Given the description of an element on the screen output the (x, y) to click on. 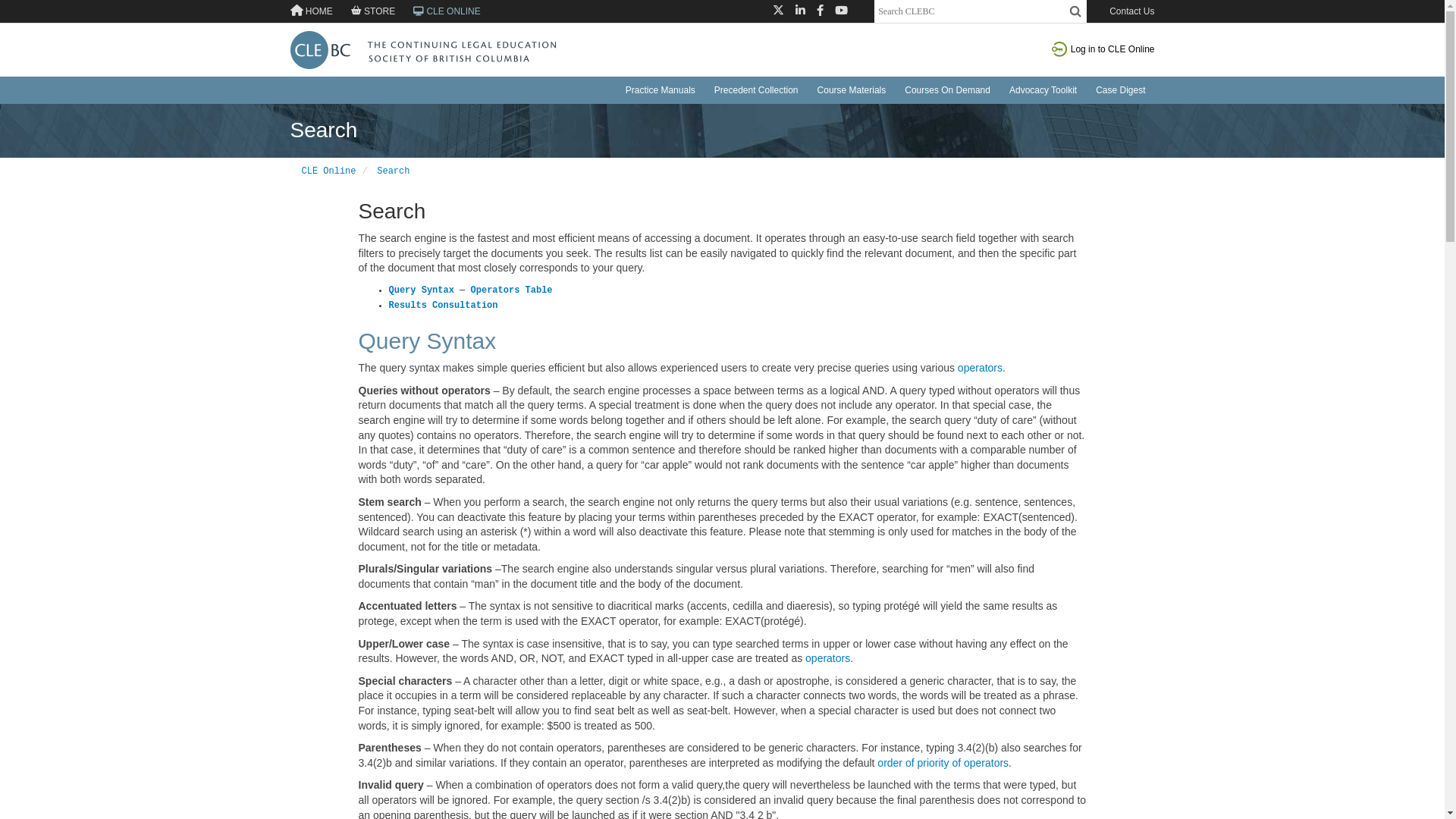
Query Syntax Element type: text (426, 340)
operators Element type: text (979, 367)
STORE Element type: text (365, 11)
Log in to CLE Online Element type: text (1102, 48)
Case Digest Element type: text (1120, 89)
Courses On Demand Element type: text (947, 89)
order of priority of operators Element type: text (942, 762)
Query Syntax Element type: text (420, 290)
Operators Table Element type: text (511, 290)
CLE Online Element type: text (328, 171)
Advocacy Toolkit Element type: text (1042, 89)
Precedent Collection Element type: text (756, 89)
Course Materials Element type: text (851, 89)
Results Consultation Element type: text (442, 305)
Contact Us Element type: text (1131, 11)
Practice Manuals Element type: text (660, 89)
CLE ONLINE Element type: text (439, 11)
Search Element type: text (392, 171)
operators Element type: text (827, 658)
HOME Element type: text (310, 11)
